Given the description of an element on the screen output the (x, y) to click on. 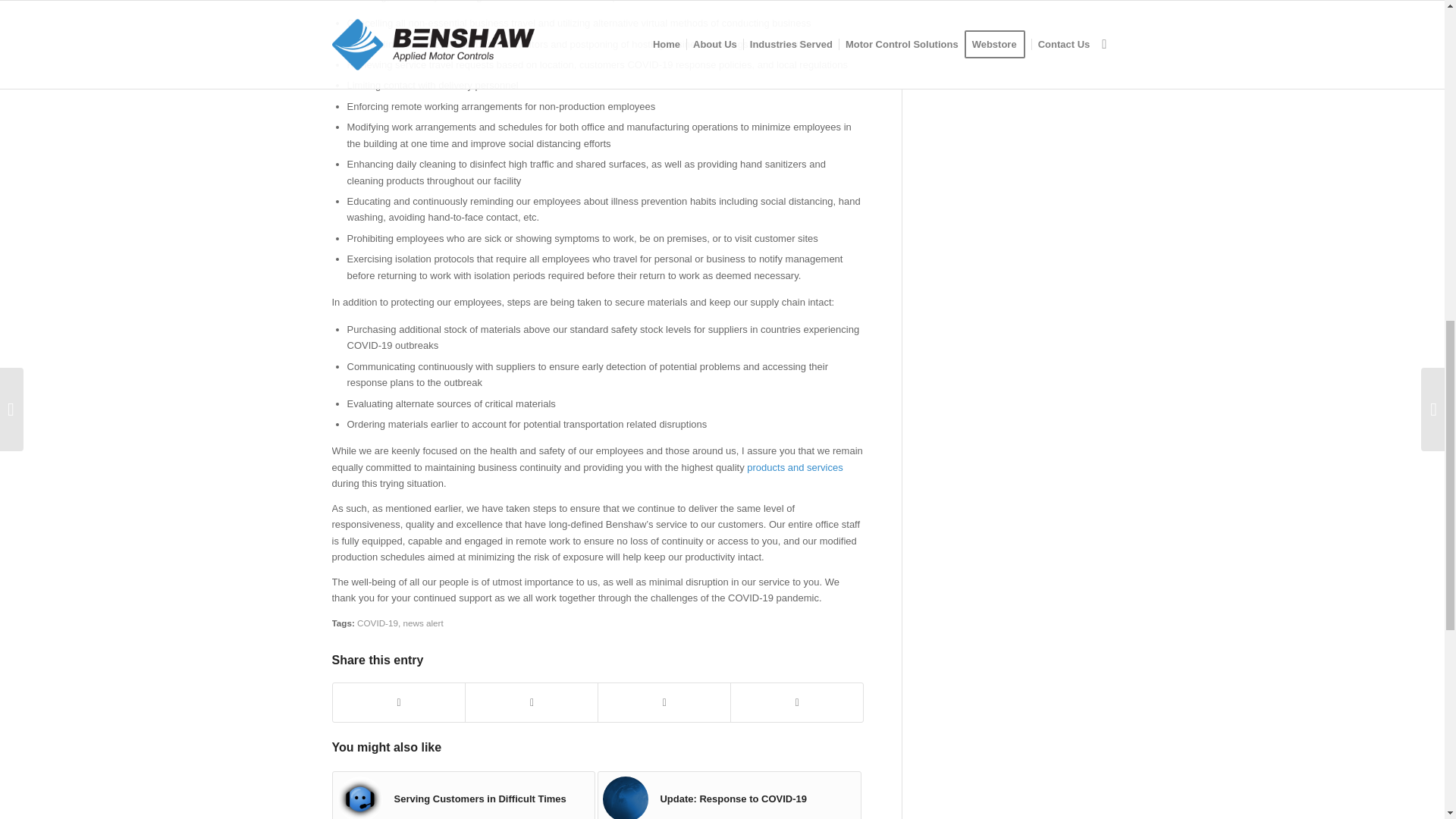
2020-04-06-featured-image-002 (358, 797)
Update: Response to COVID-19 (728, 795)
Serving Customers in Difficult Times (463, 795)
